Given the description of an element on the screen output the (x, y) to click on. 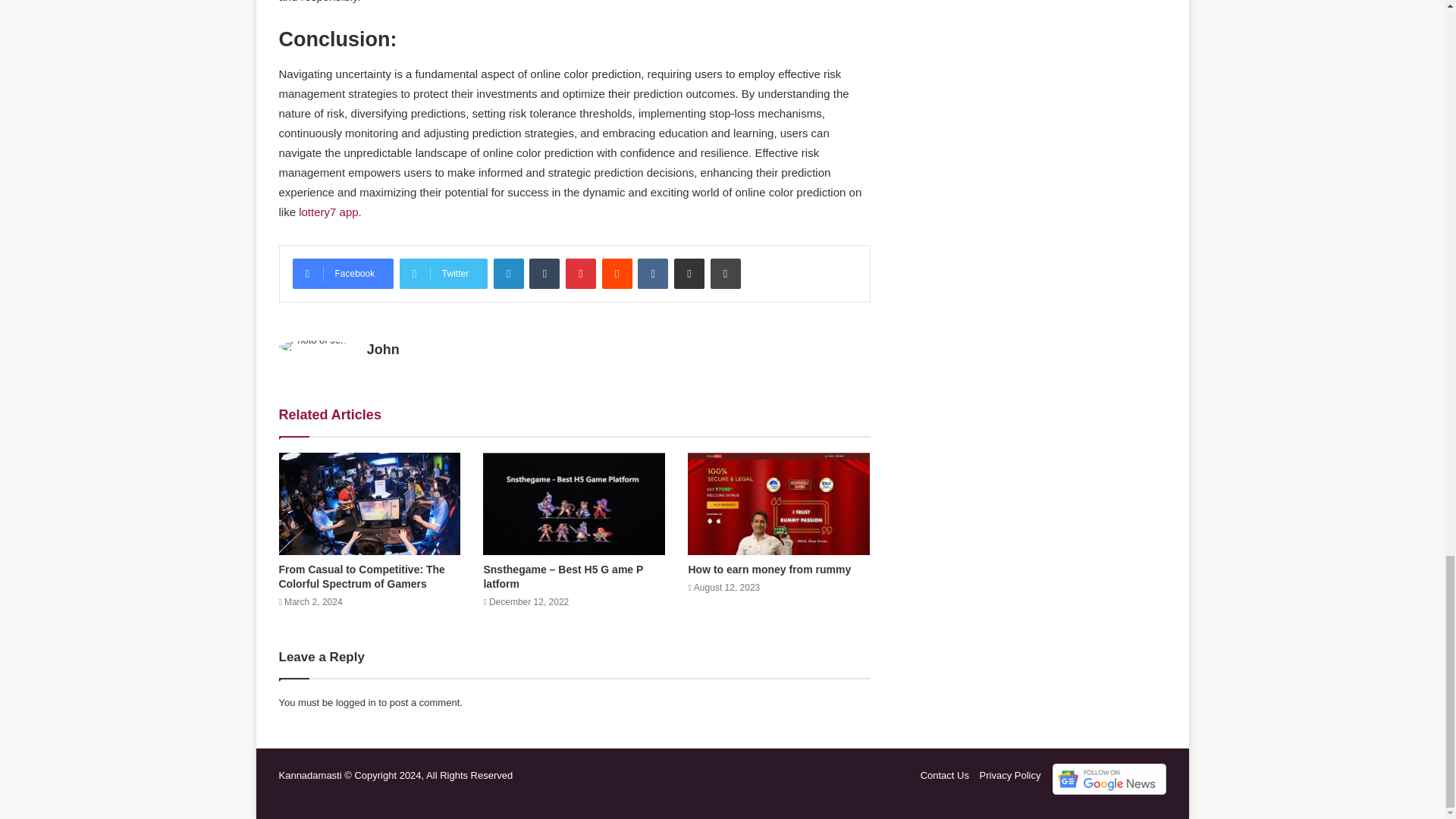
Reddit (616, 273)
Tumblr (544, 273)
Facebook (343, 273)
lottery7 app (328, 211)
VKontakte (652, 273)
Facebook (343, 273)
VKontakte (652, 273)
Share via Email (689, 273)
John (382, 349)
Reddit (616, 273)
Share via Email (689, 273)
Twitter (442, 273)
From Casual to Competitive: The Colorful Spectrum of Gamers (362, 576)
Pinterest (580, 273)
LinkedIn (508, 273)
